Given the description of an element on the screen output the (x, y) to click on. 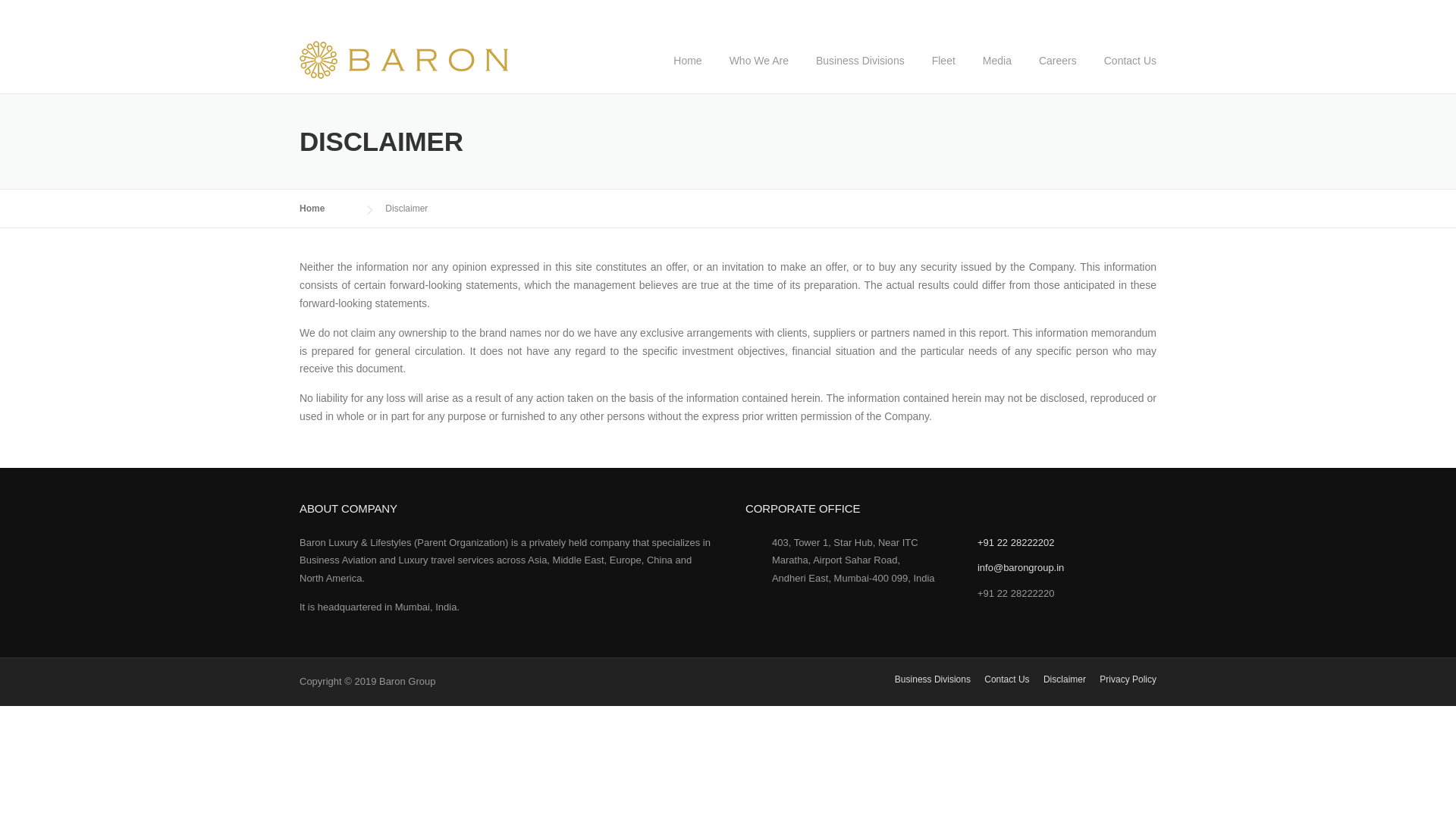
Business Divisions (933, 678)
Careers (1057, 72)
Contact Us (1006, 678)
Home (327, 208)
Who We Are (759, 72)
Disclaimer (1064, 678)
Fleet (943, 72)
Home (686, 72)
Privacy Policy (1127, 678)
Contact Us (1123, 72)
Go to Baron Group. (327, 208)
Media (997, 72)
Baron Group (403, 59)
Business Divisions (860, 72)
